Given the description of an element on the screen output the (x, y) to click on. 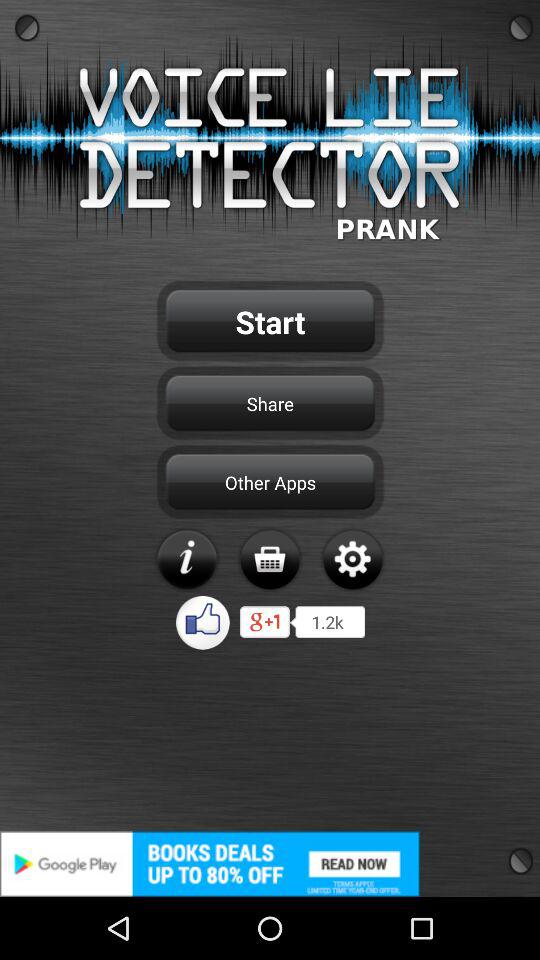
like option (203, 621)
